Given the description of an element on the screen output the (x, y) to click on. 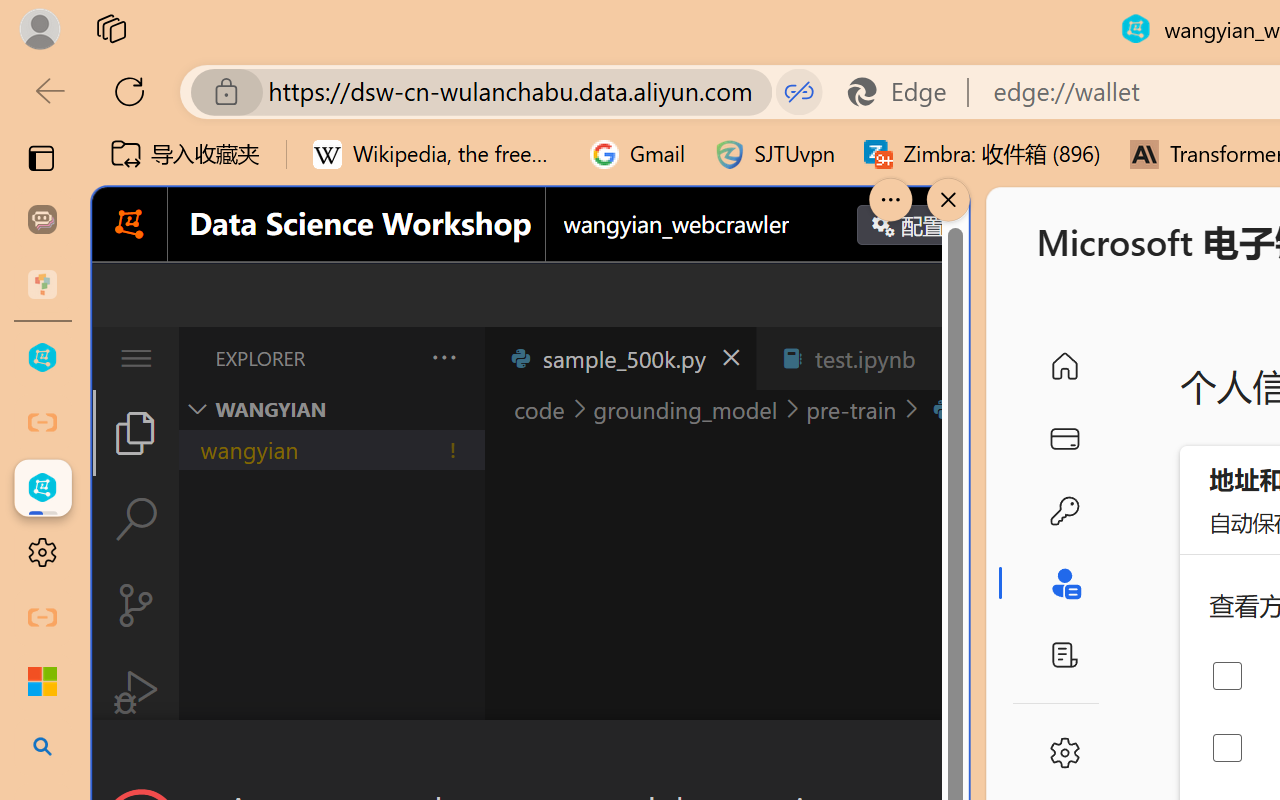
Wikipedia, the free encyclopedia (437, 154)
Explorer (Ctrl+Shift+E) (135, 432)
Close Dialog (959, 756)
Run and Debug (Ctrl+Shift+D) (135, 692)
wangyian_dsw - DSW (42, 357)
Close (Ctrl+F4) (946, 358)
